Given the description of an element on the screen output the (x, y) to click on. 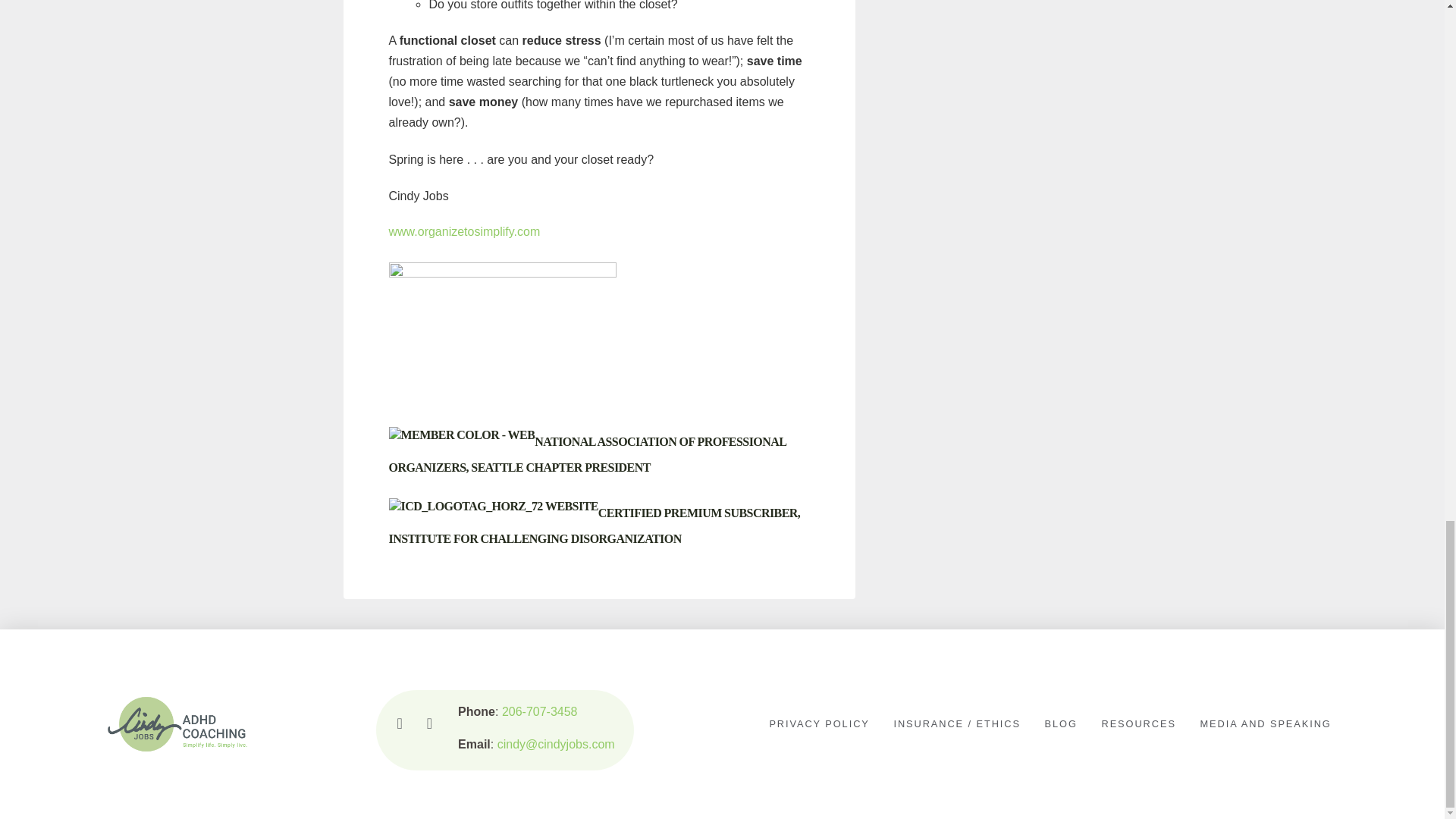
www.organizetosimplify.com (464, 231)
BLOG (1059, 724)
PRIVACY POLICY (818, 724)
206-707-3458 (540, 711)
